Given the description of an element on the screen output the (x, y) to click on. 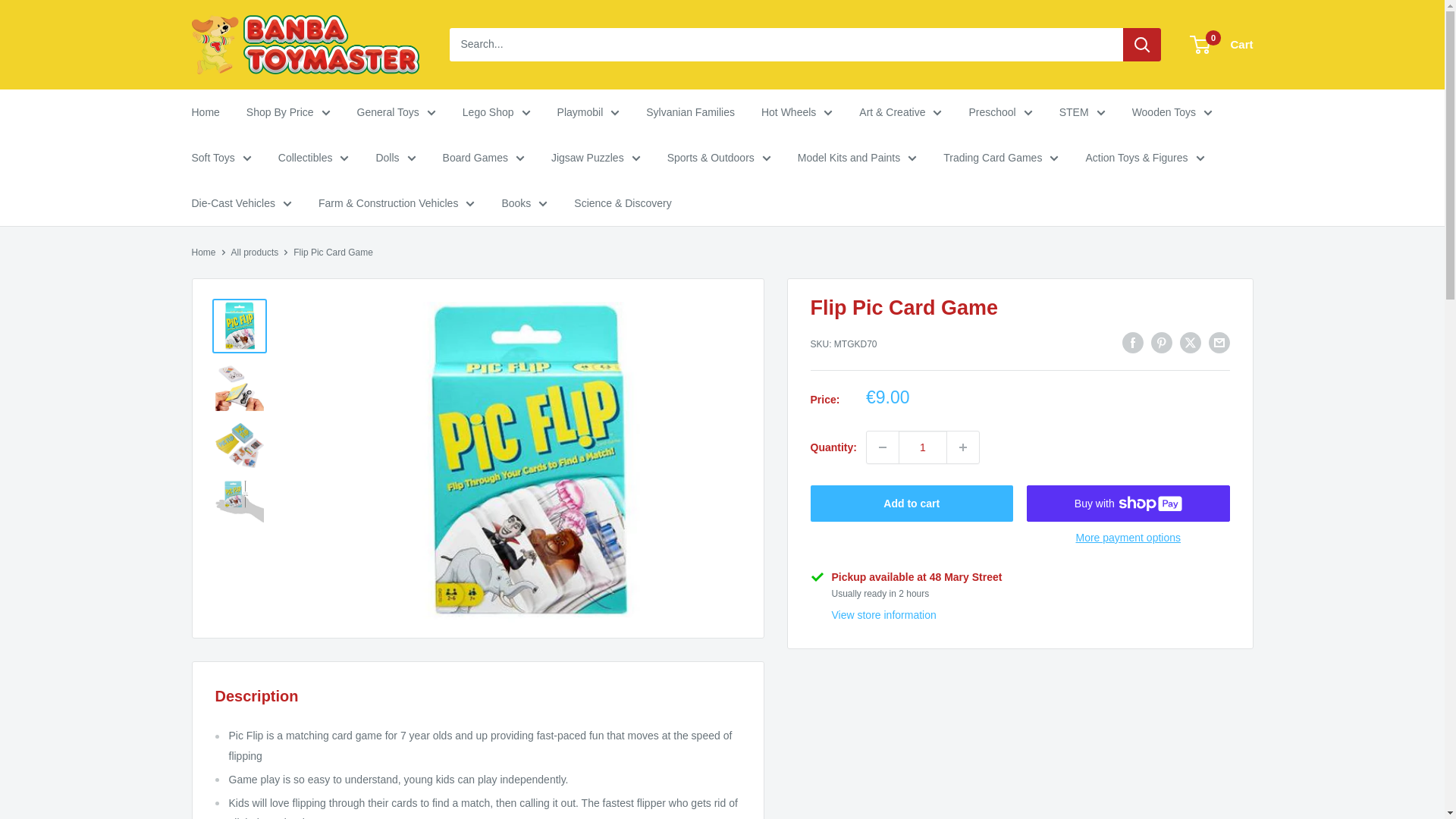
1 (922, 447)
Decrease quantity by 1 (882, 447)
Increase quantity by 1 (962, 447)
